Given the description of an element on the screen output the (x, y) to click on. 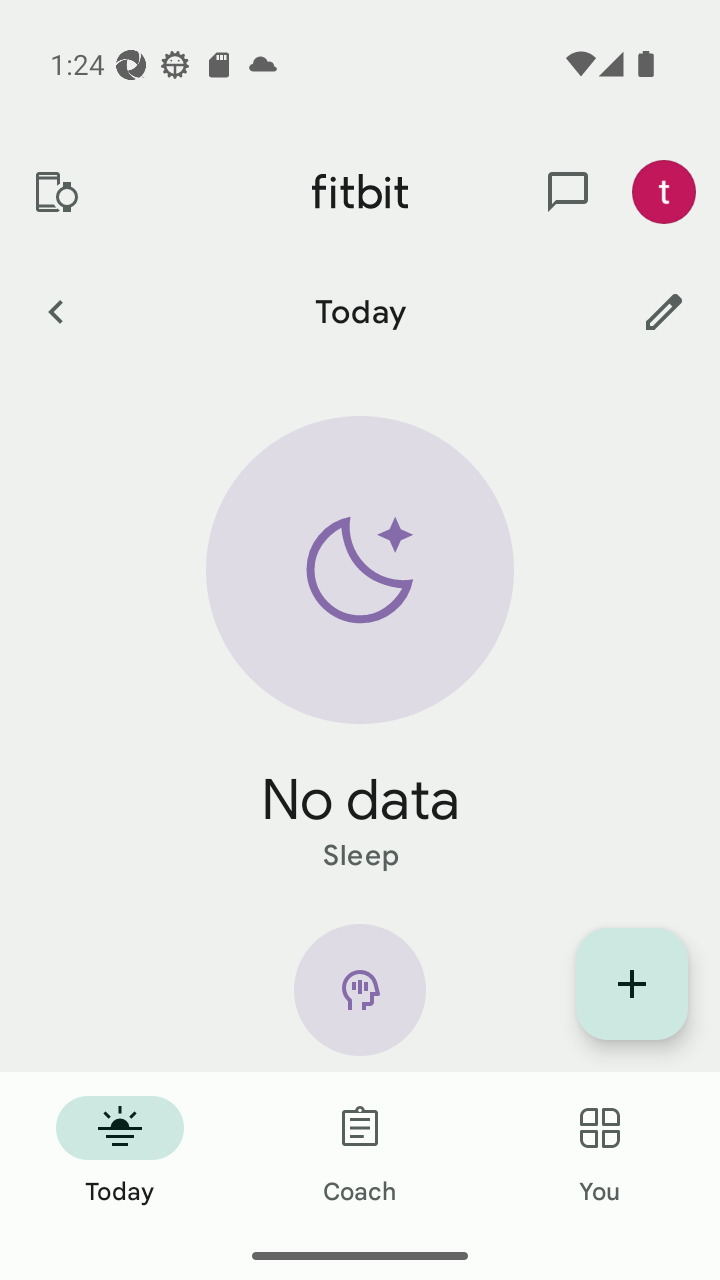
Devices and apps (55, 191)
messages and notifications (567, 191)
Previous Day (55, 311)
Customize (664, 311)
Sleep static hero arc No data Sleep (359, 645)
Mindfulness icon (360, 998)
Display list of quick log entries (632, 983)
Coach (359, 1151)
You (600, 1151)
